Given the description of an element on the screen output the (x, y) to click on. 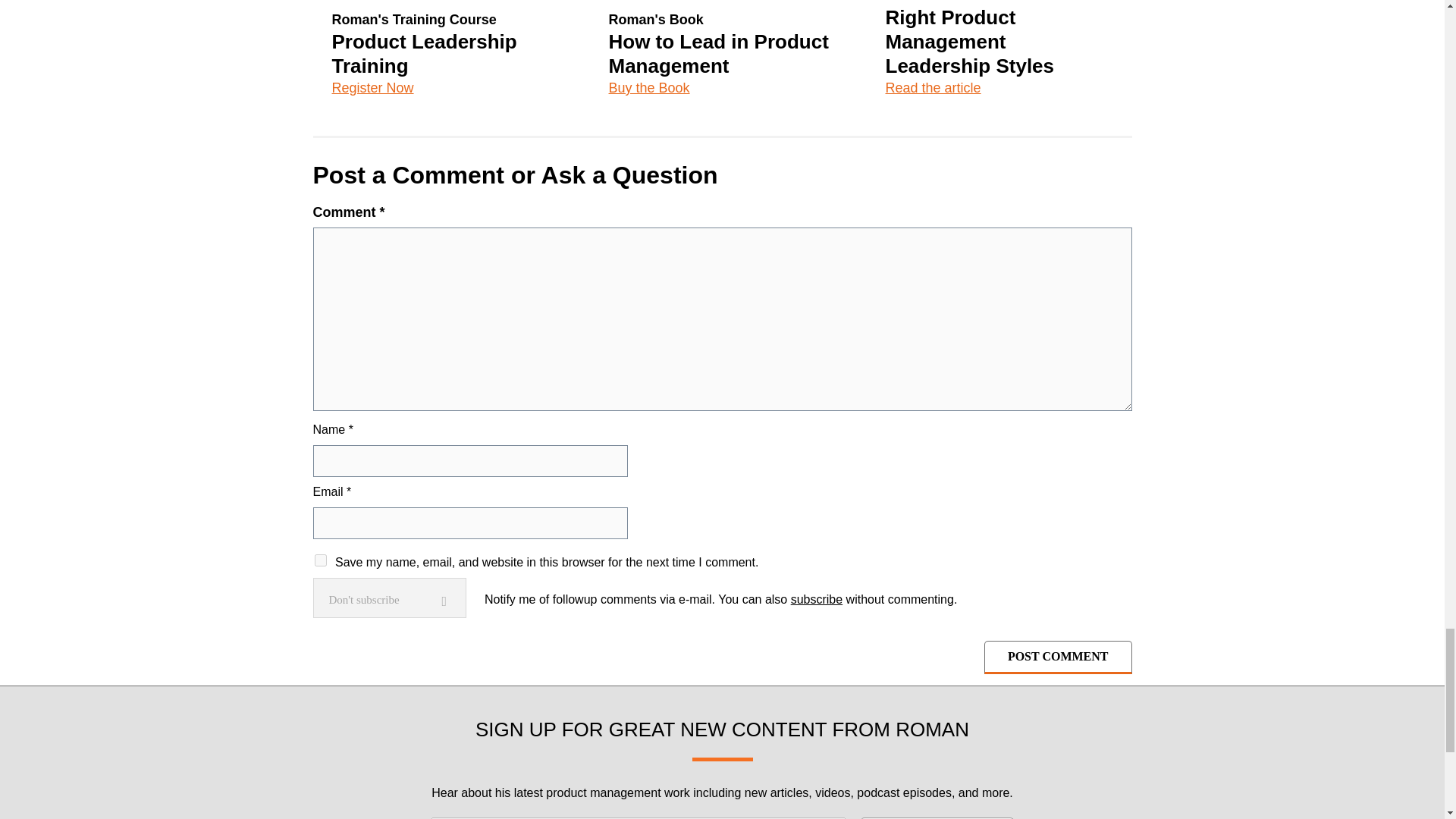
yes (320, 560)
Post Comment (1058, 657)
